Given the description of an element on the screen output the (x, y) to click on. 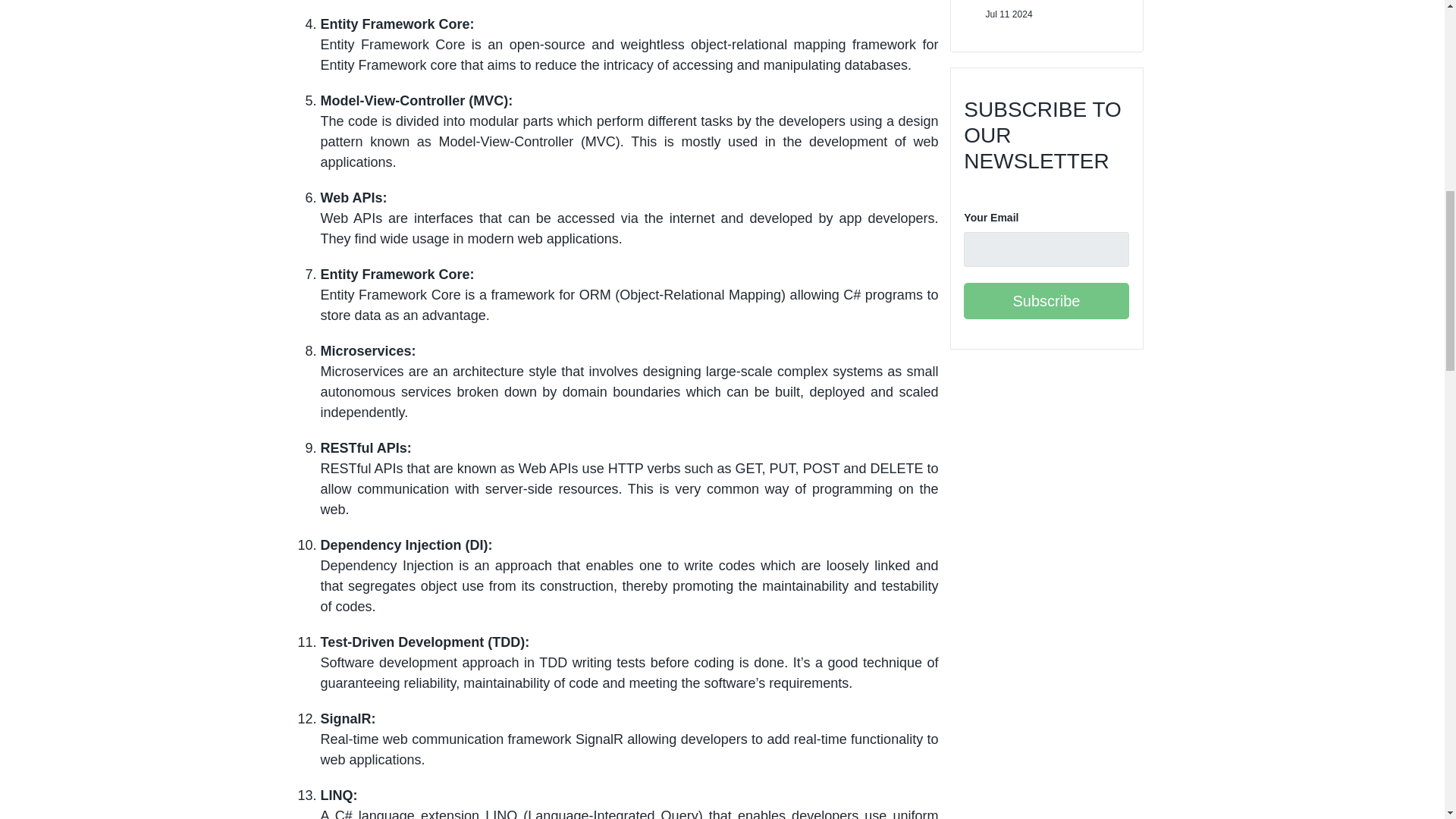
Subscribe (1045, 300)
